Given the description of an element on the screen output the (x, y) to click on. 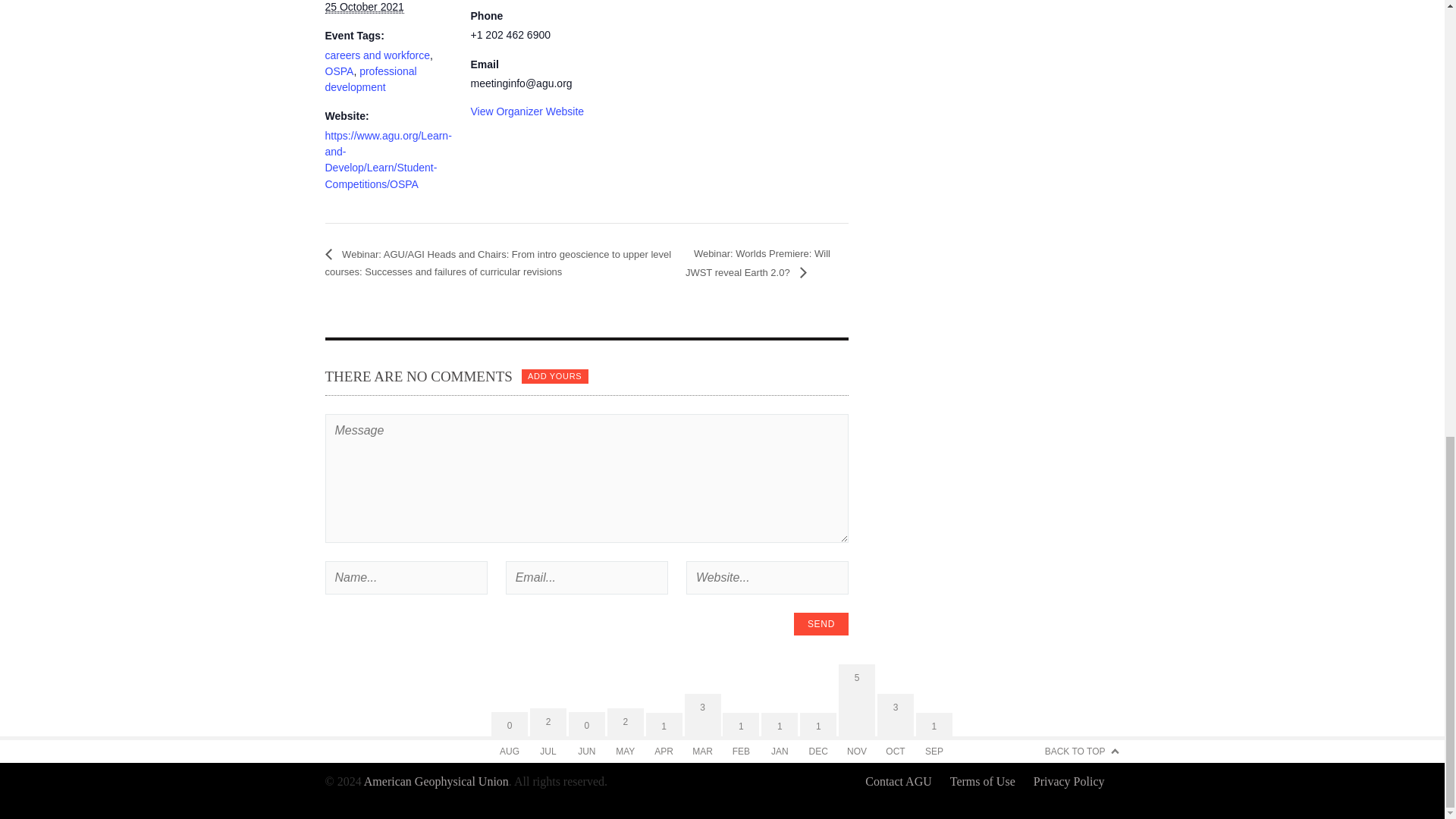
View Organizer Website (526, 111)
professional development (370, 79)
ADD YOURS (554, 376)
Send (820, 623)
careers and workforce (376, 55)
OSPA (338, 70)
2021-10-25 (363, 6)
Webinar: Worlds Premiere: Will JWST reveal Earth 2.0? (757, 263)
Send (820, 623)
